Given the description of an element on the screen output the (x, y) to click on. 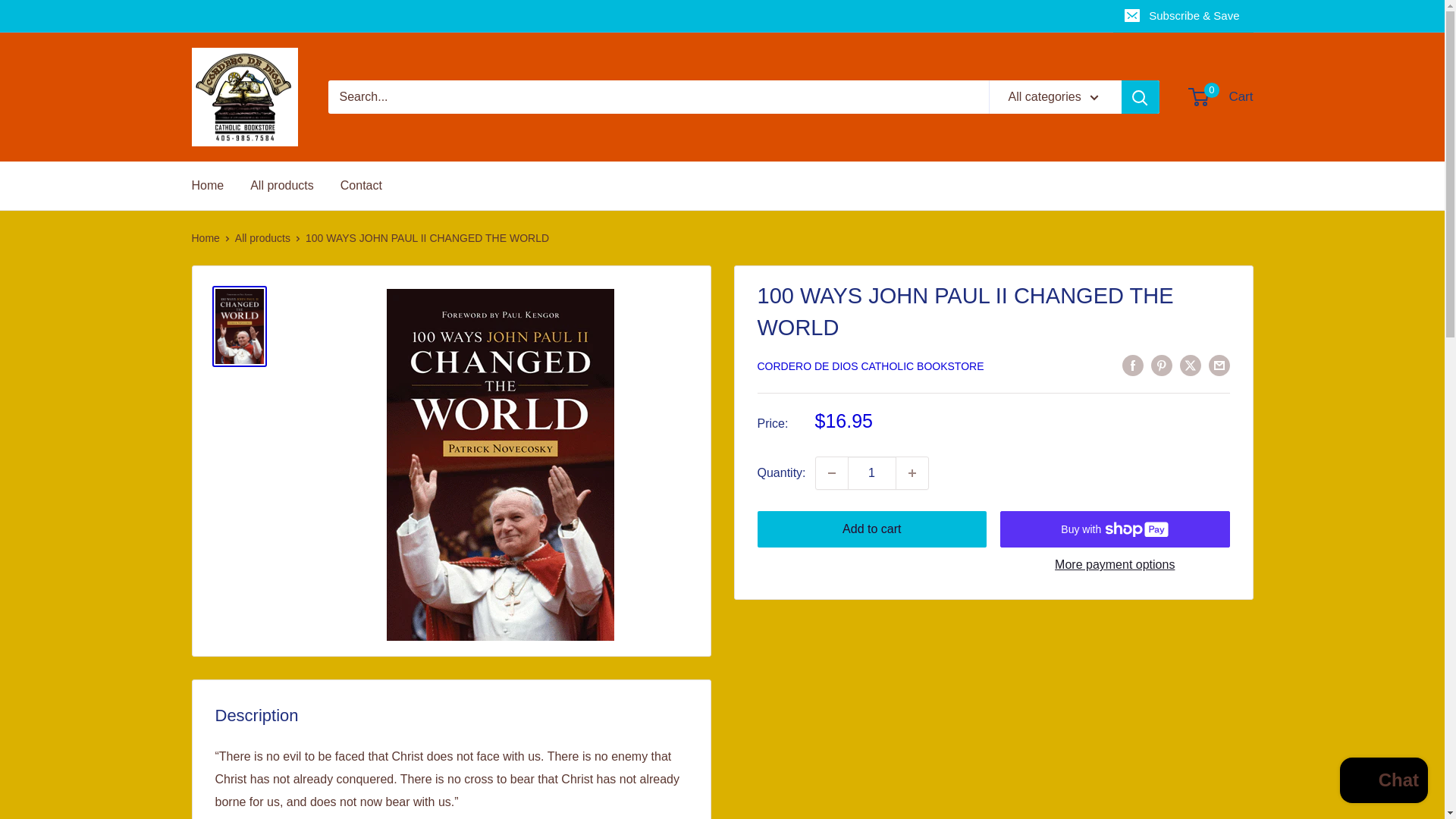
CORDERO DE DIOS CATHOLIC BOOKSTORE (870, 366)
Home (207, 185)
All products (261, 237)
Add to cart (1221, 96)
Contact (872, 529)
All products (360, 185)
1 (282, 185)
Decrease quantity by 1 (871, 472)
Shopify online store chat (831, 472)
